Given the description of an element on the screen output the (x, y) to click on. 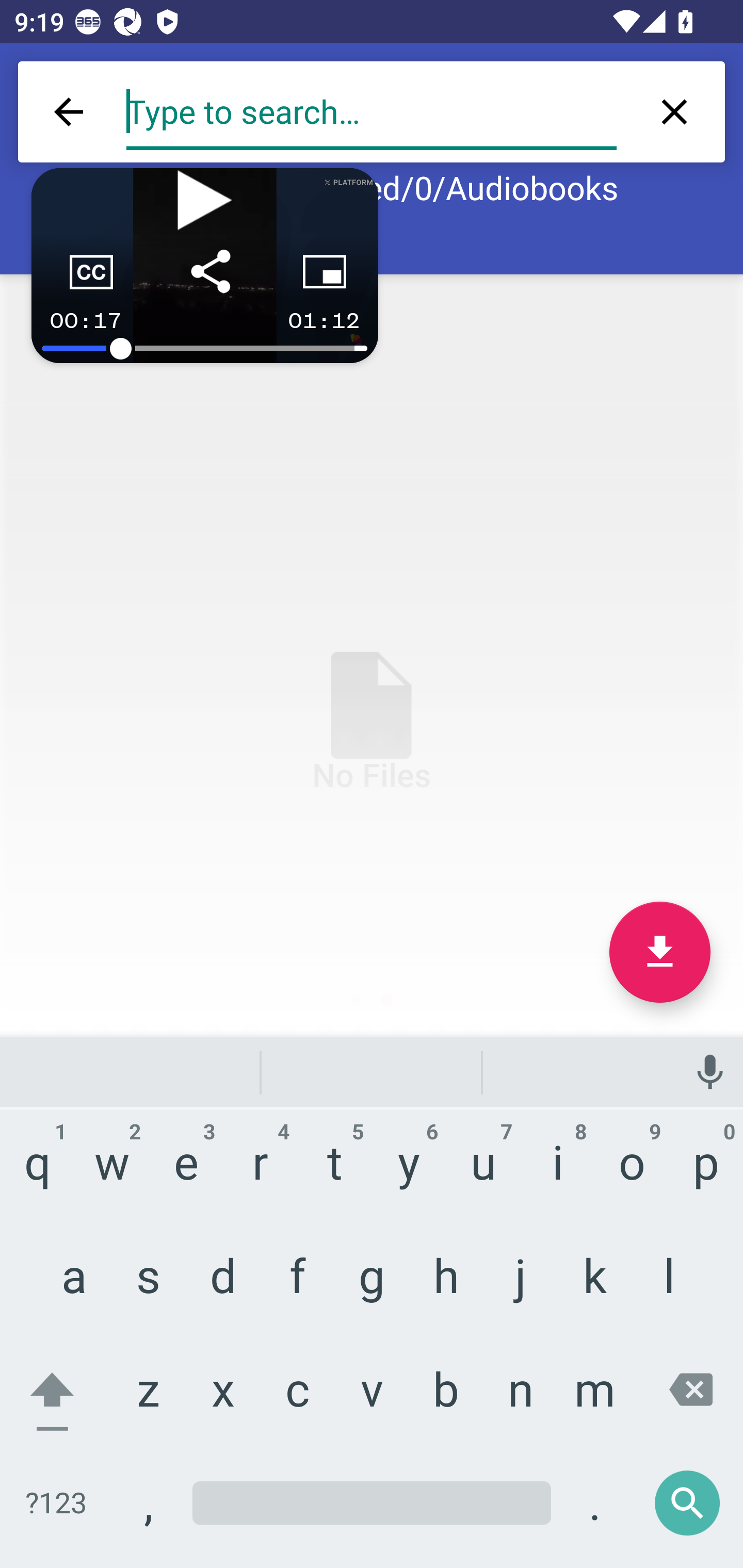
Type to search… (371, 112)
